Given the description of an element on the screen output the (x, y) to click on. 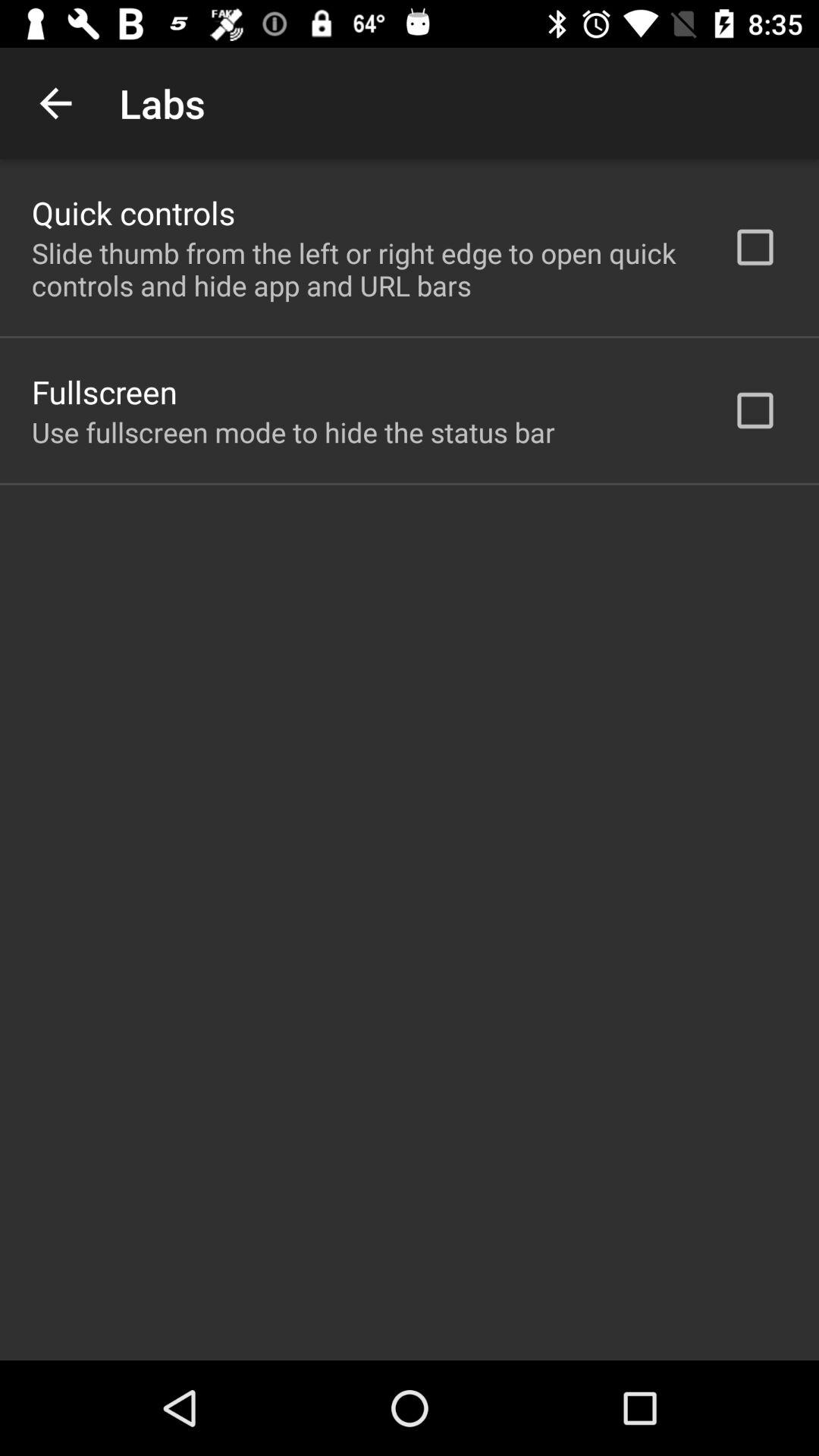
tap the app below the fullscreen (293, 432)
